Given the description of an element on the screen output the (x, y) to click on. 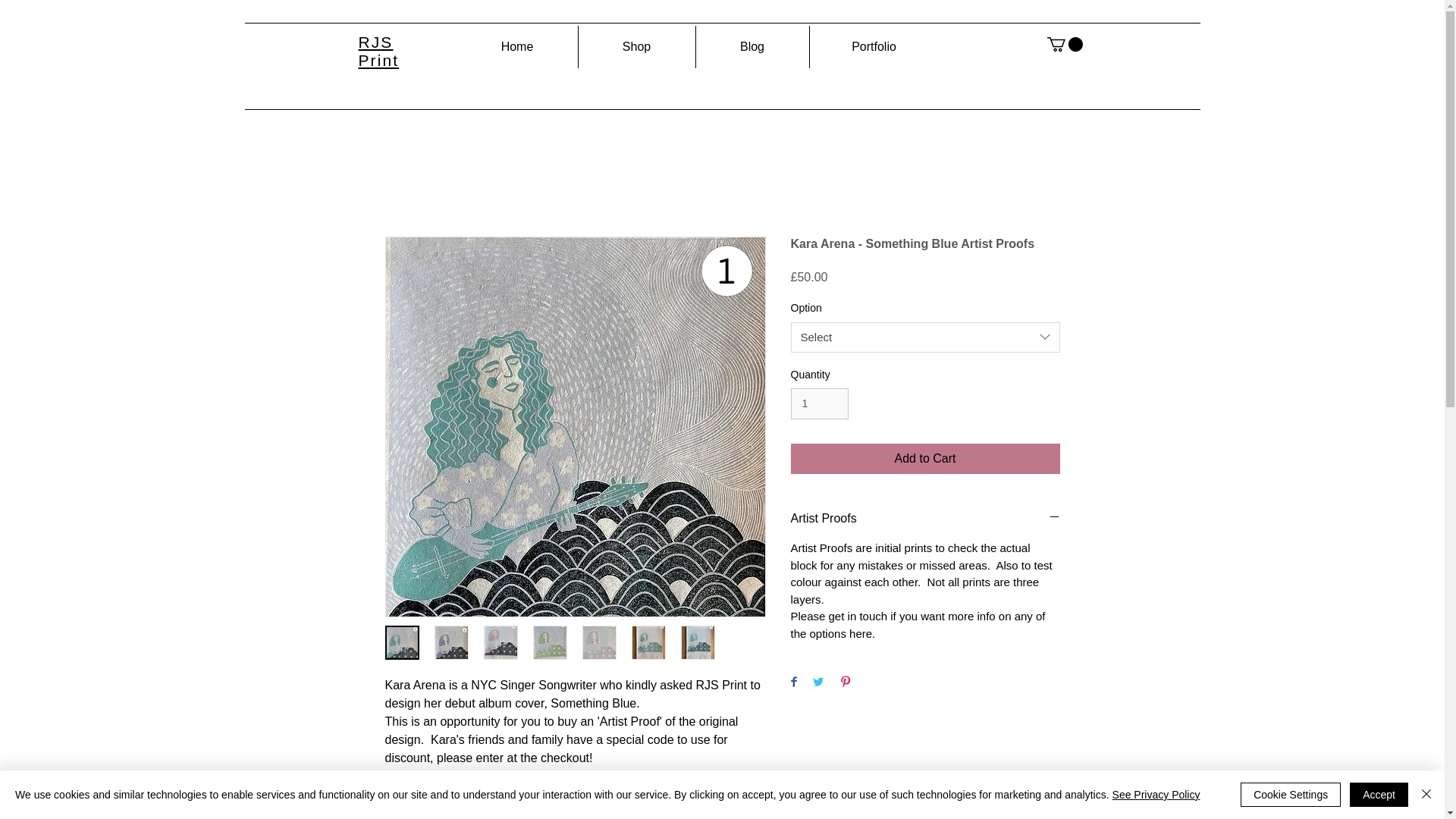
Portfolio (874, 46)
Home (516, 46)
See Privacy Policy (1155, 794)
1 (818, 403)
Add to Cart (924, 458)
RJS Print (378, 50)
Select (924, 337)
Accept (1378, 794)
Blog (752, 46)
Shop (636, 46)
